Given the description of an element on the screen output the (x, y) to click on. 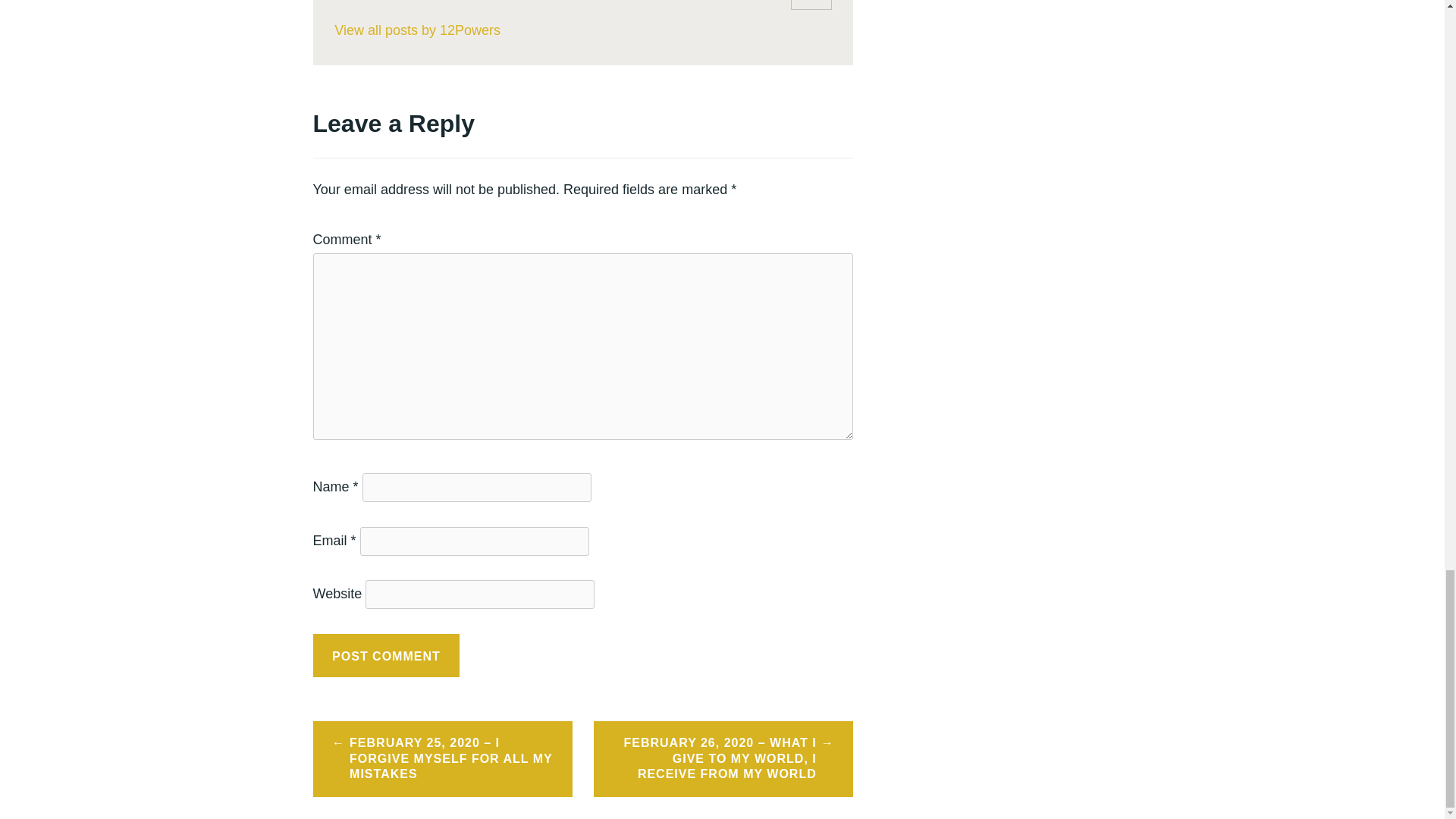
Post Comment (386, 655)
View all posts by 12Powers (582, 31)
Post Comment (386, 655)
